Given the description of an element on the screen output the (x, y) to click on. 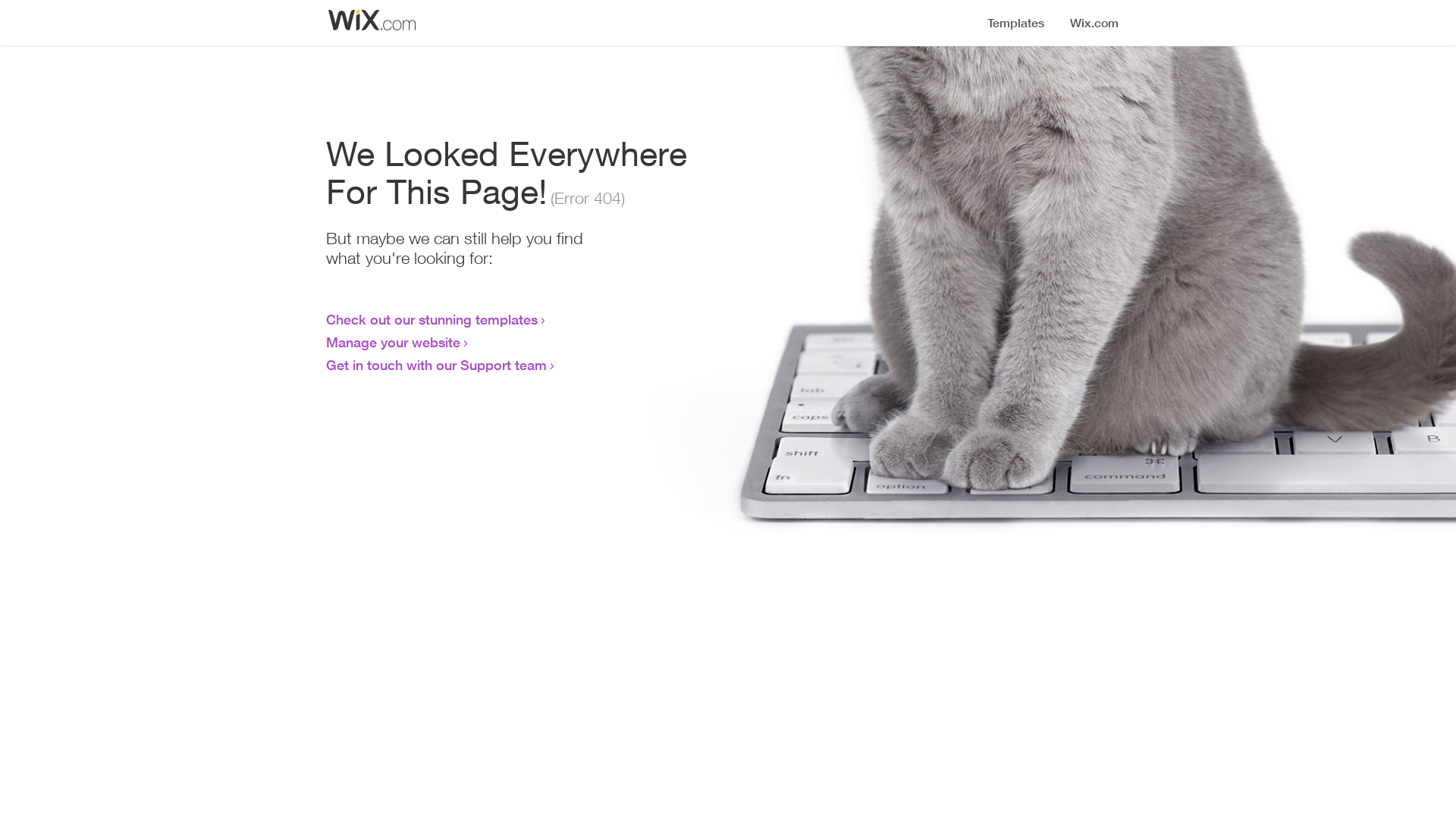
Manage your website Element type: text (393, 341)
Check out our stunning templates Element type: text (431, 318)
Get in touch with our Support team Element type: text (436, 364)
